Given the description of an element on the screen output the (x, y) to click on. 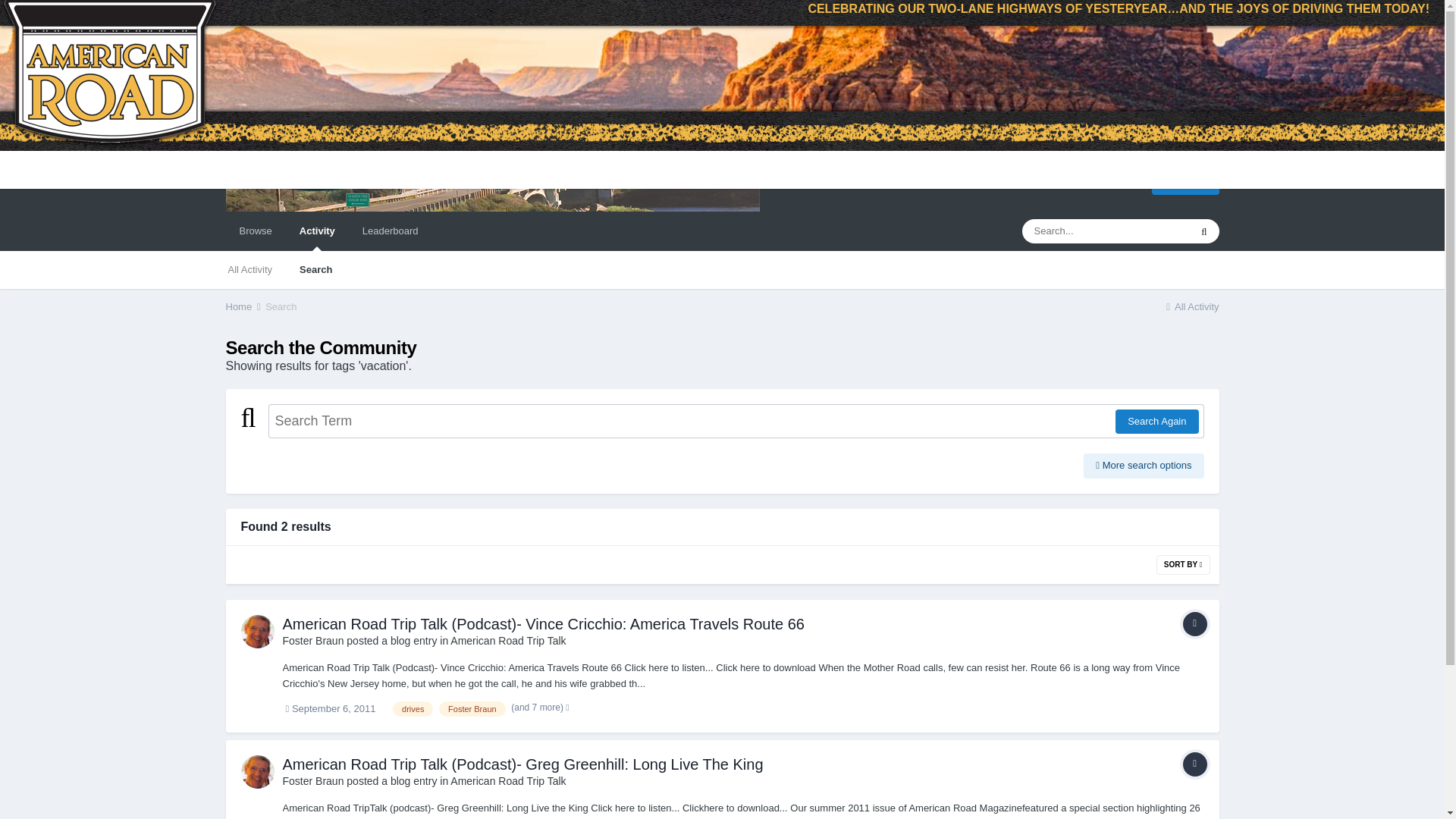
All Activity (249, 269)
Leaderboard (390, 230)
Browse (255, 230)
Blog Entry (1194, 764)
Home (244, 306)
Search Again (1156, 421)
Home (244, 306)
Find other content tagged with 'drives' (412, 708)
Blog Entry (1194, 623)
Existing user? Sign In   (1081, 181)
Find other content tagged with 'Foster Braun' (472, 708)
More search options (1143, 465)
Sign Up (1184, 181)
Search (280, 306)
Go to Foster Braun's profile (258, 631)
